Given the description of an element on the screen output the (x, y) to click on. 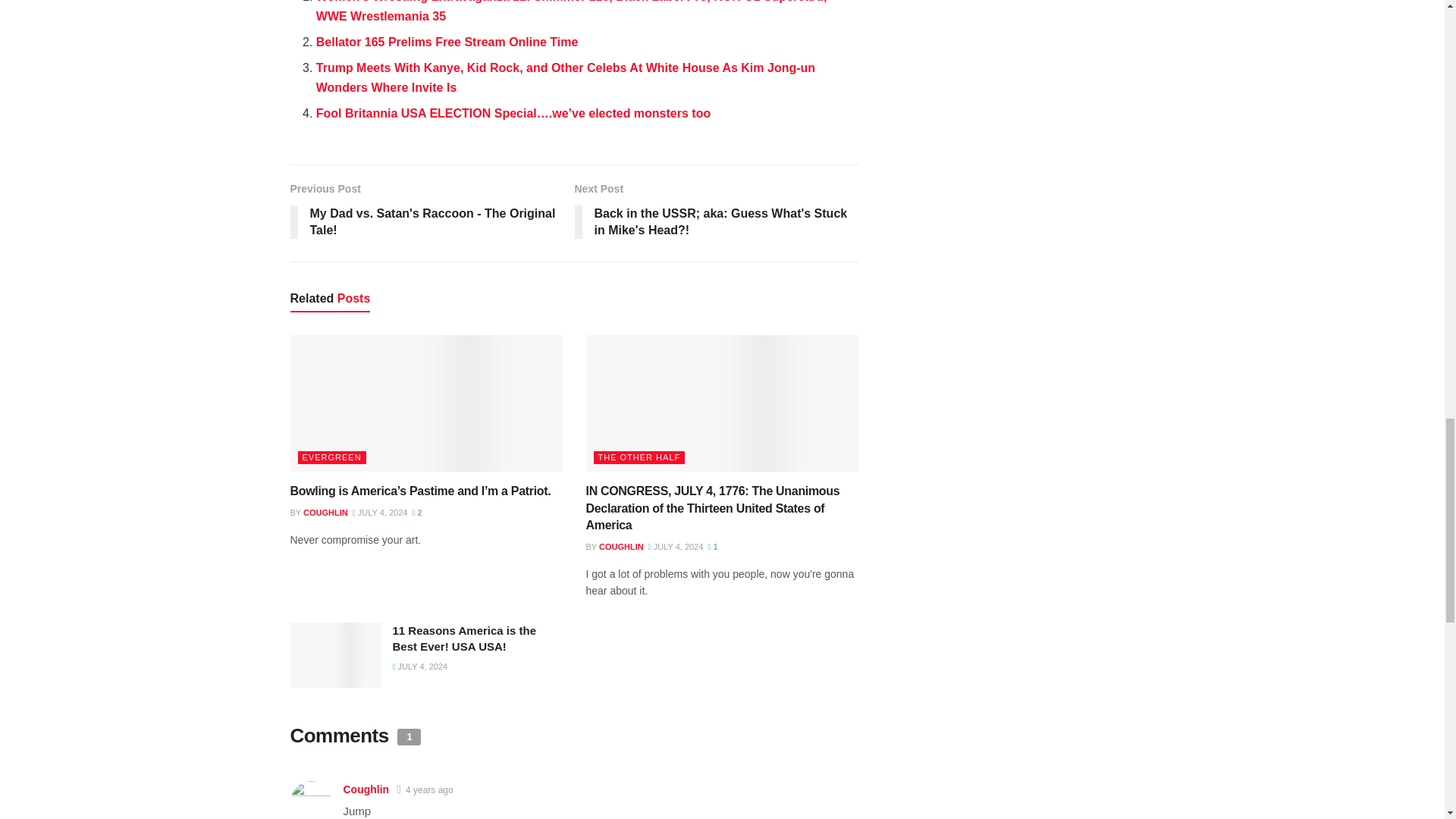
Bellator 165 Prelims Free Stream Online Time (446, 42)
